Given the description of an element on the screen output the (x, y) to click on. 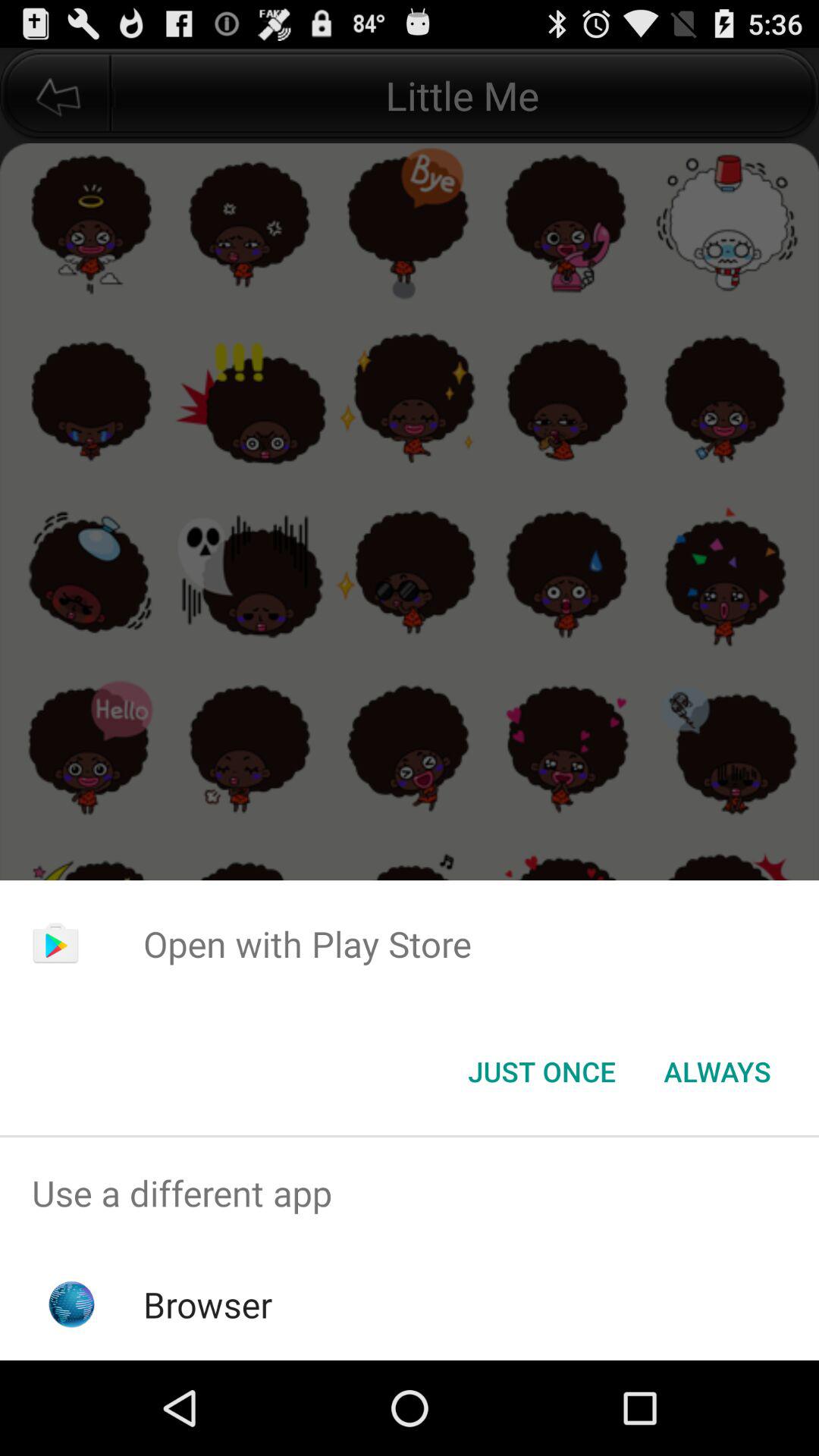
select icon next to always icon (541, 1071)
